Given the description of an element on the screen output the (x, y) to click on. 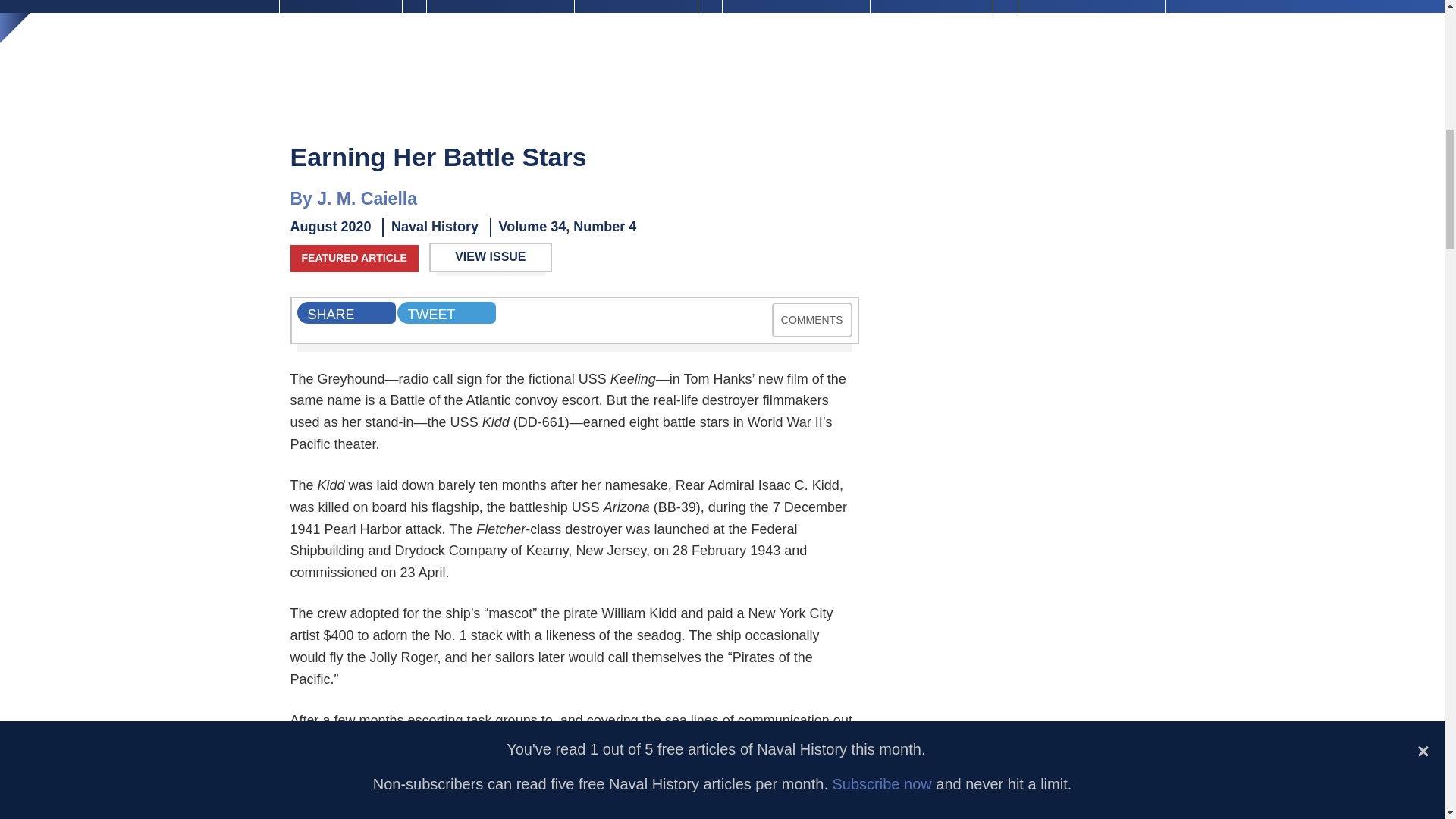
Submit to Naval History (795, 6)
